Given the description of an element on the screen output the (x, y) to click on. 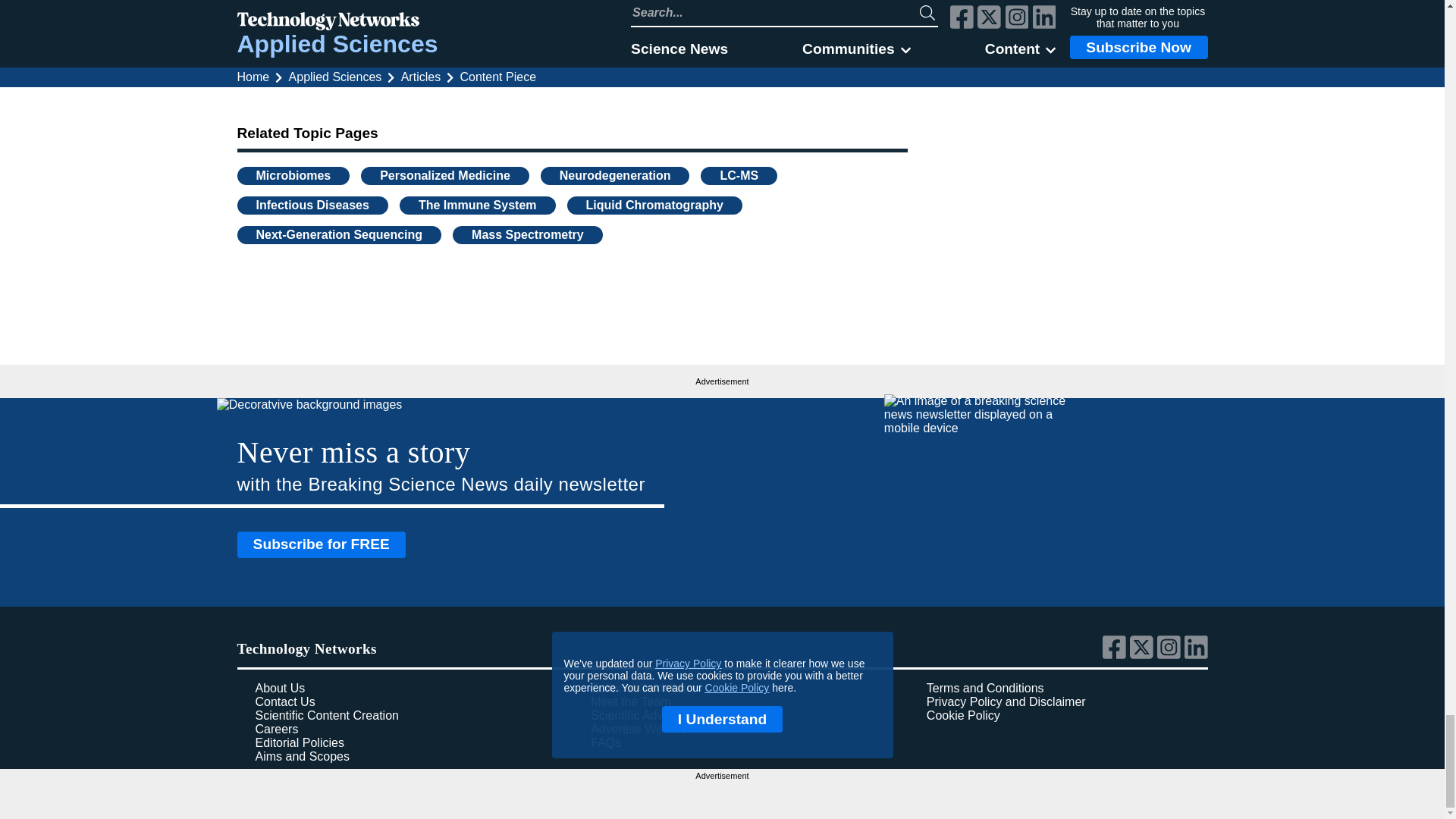
Link to Technology Networks' twitter page (1143, 655)
Link to Technology Networks' linkedin page (1196, 655)
Link to Technology Networks' facebook page (1115, 655)
Link to Technology Networks' instagram page (1171, 655)
